Given the description of an element on the screen output the (x, y) to click on. 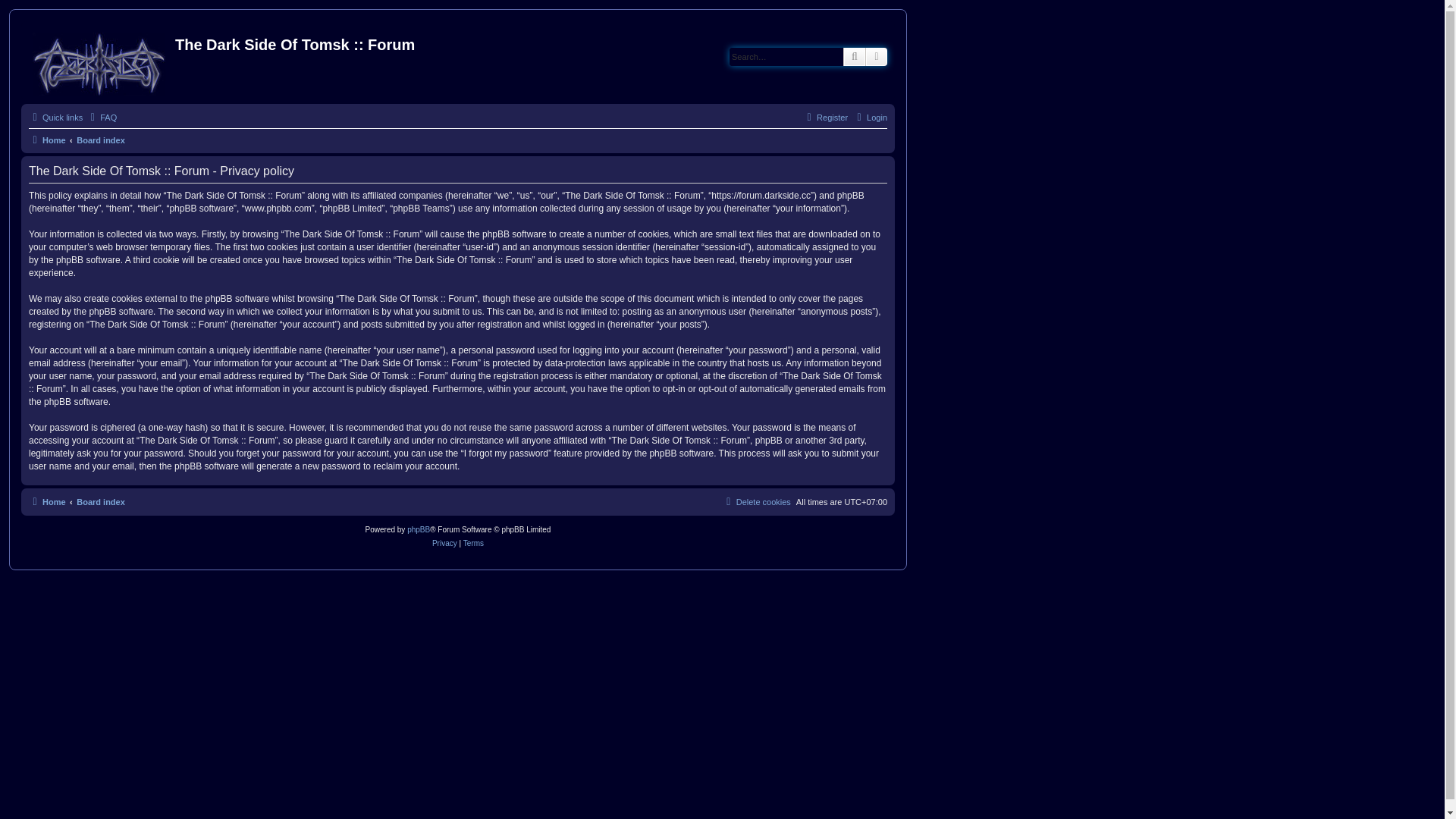
Home Element type: text (46, 501)
Board index Element type: text (100, 501)
Terms Element type: text (473, 543)
phpBB Element type: text (418, 529)
Home Element type: hover (100, 61)
Delete cookies Element type: text (756, 501)
FAQ Element type: text (101, 117)
Search for keywords Element type: hover (786, 56)
Quick links Element type: text (55, 117)
Register Element type: text (825, 117)
Home Element type: text (46, 140)
Advanced search Element type: text (876, 56)
Privacy Element type: text (444, 543)
Board index Element type: text (100, 140)
Login Element type: text (870, 117)
Search Element type: text (854, 56)
